Given the description of an element on the screen output the (x, y) to click on. 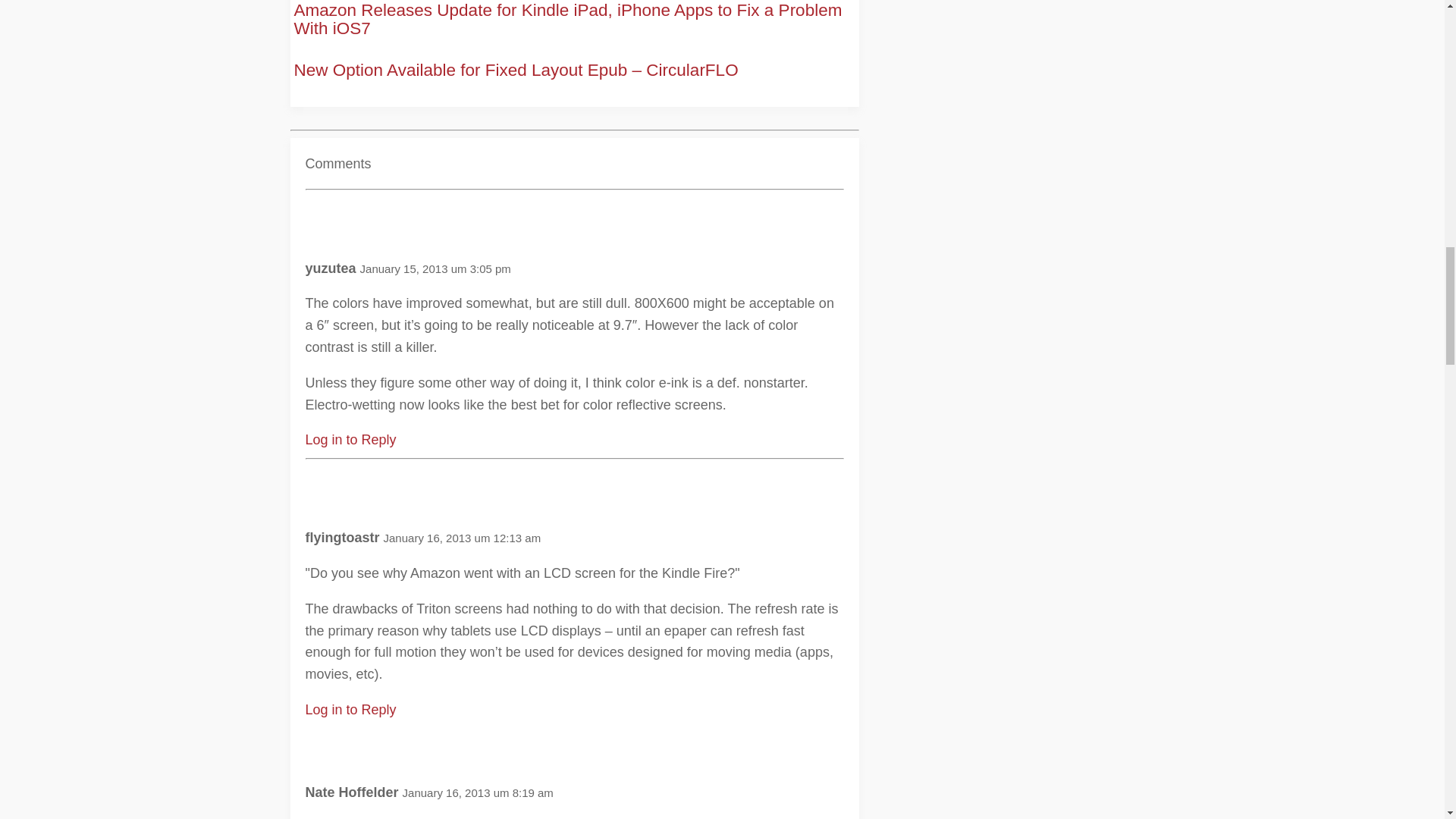
Log in to Reply (350, 709)
Log in to Reply (350, 439)
